Given the description of an element on the screen output the (x, y) to click on. 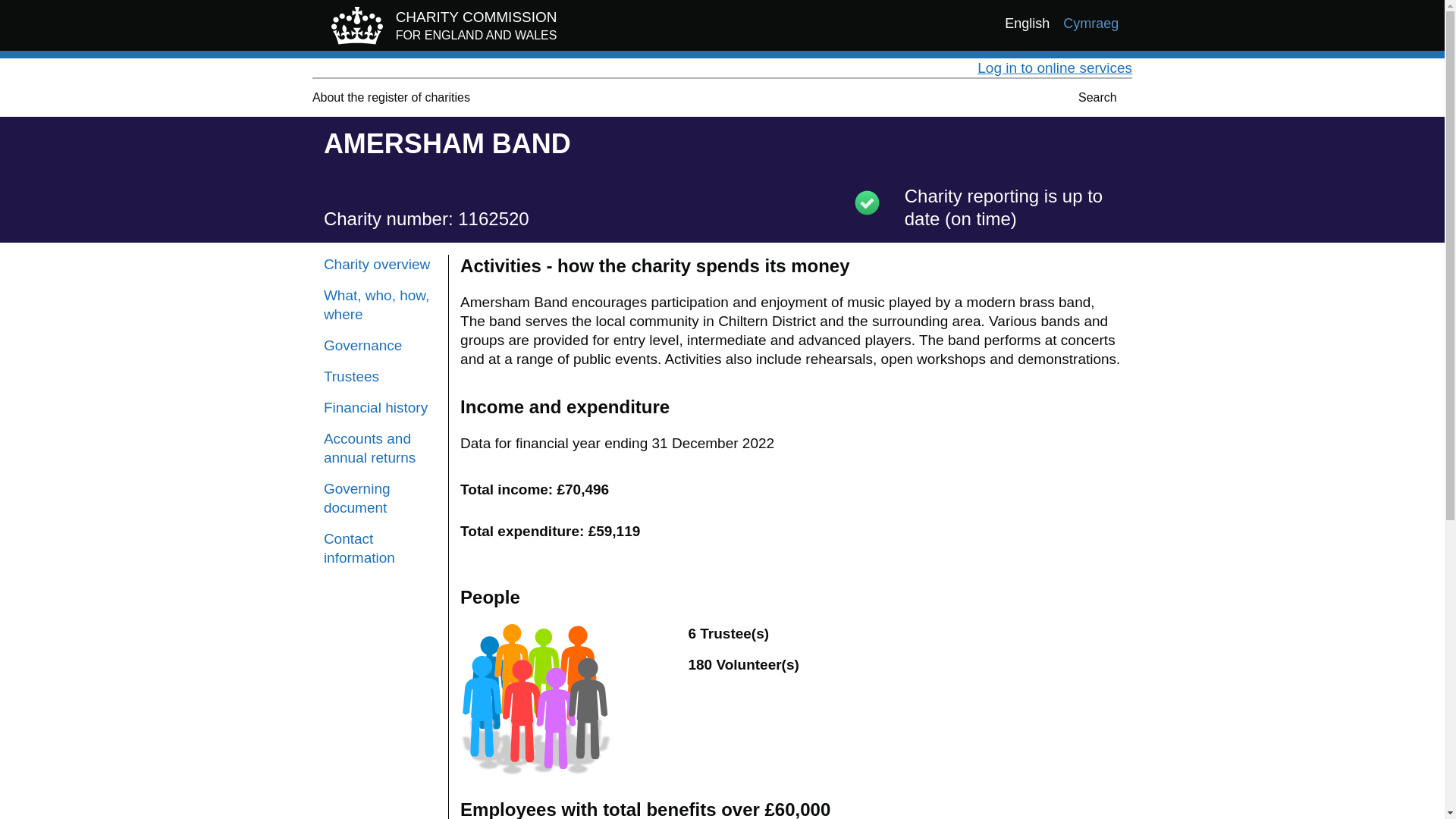
Financial history (379, 407)
What, who, how, where (379, 304)
Cymraeg (1091, 23)
Charity overview (379, 263)
About the register of charities (391, 97)
Governing document (379, 497)
About the register of charities (391, 97)
Governance (379, 344)
Trustees (379, 375)
Log in to online services (1054, 67)
Contact information (379, 548)
Accounts and annual returns (439, 28)
